Given the description of an element on the screen output the (x, y) to click on. 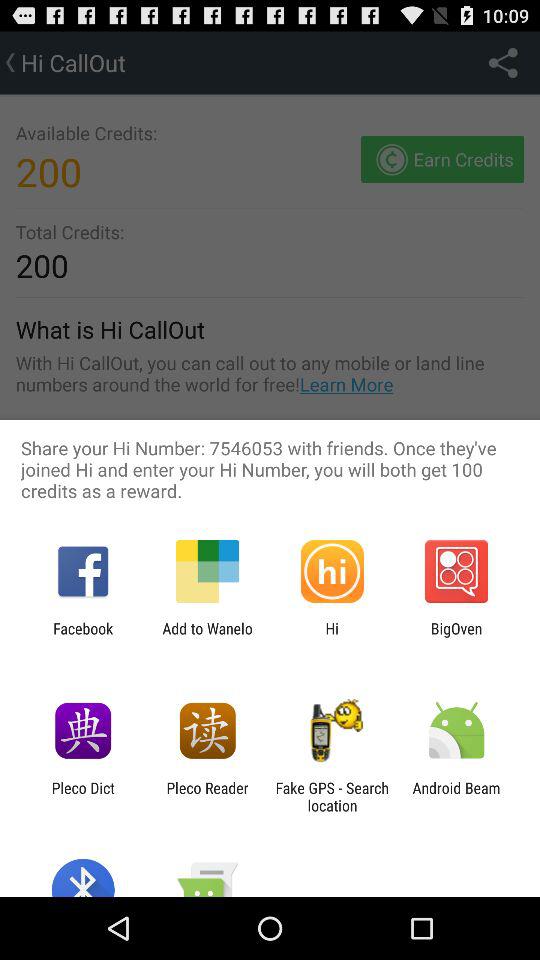
open android beam icon (456, 796)
